Given the description of an element on the screen output the (x, y) to click on. 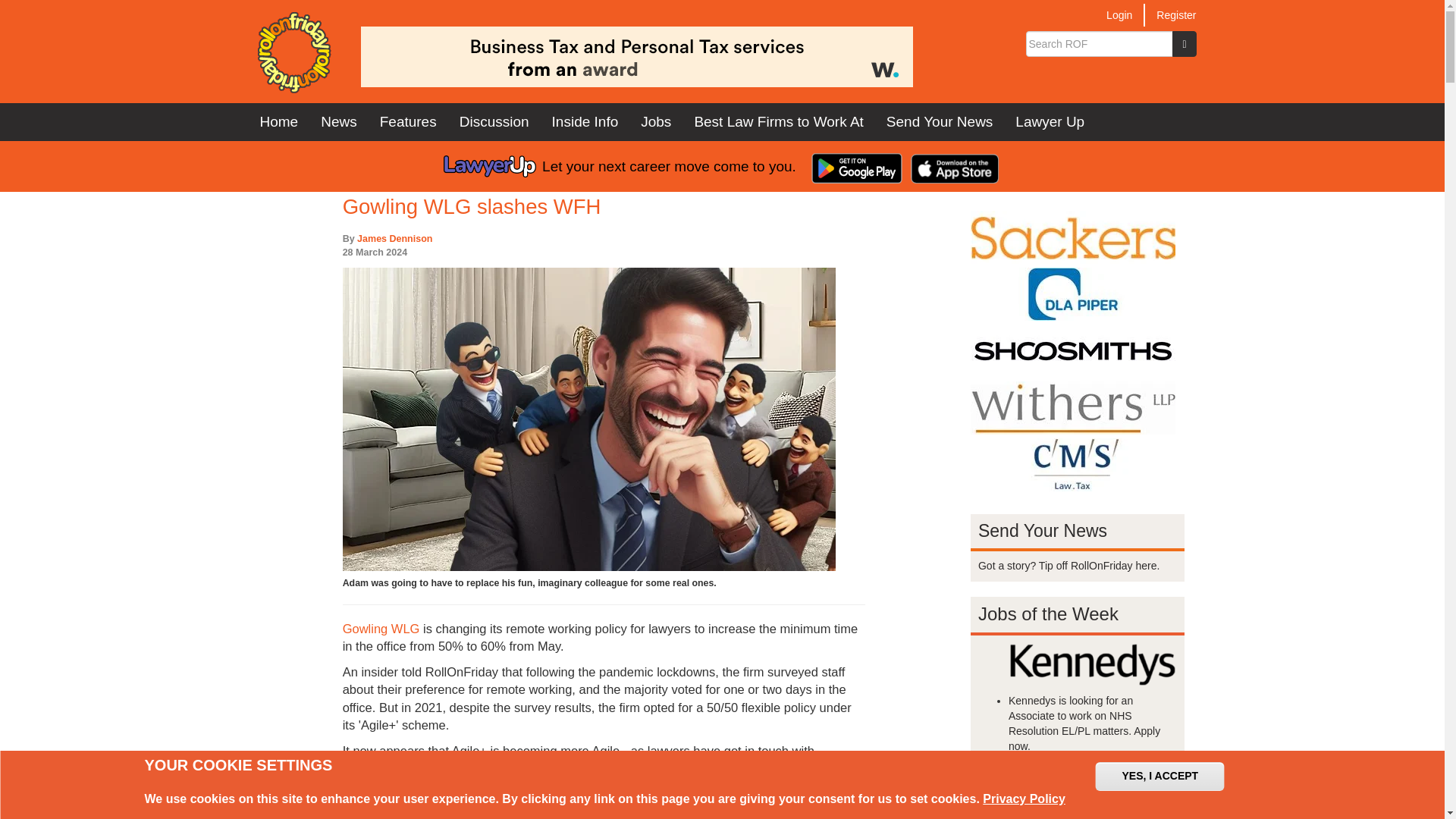
Jobs (655, 121)
Inside Info (585, 121)
Gowling WLG slashes WFH (471, 206)
Lawyer Up (1050, 121)
News (338, 121)
Login (1119, 15)
Send Your News (939, 121)
Features (408, 121)
Let your next career move come to you. (620, 166)
